Given the description of an element on the screen output the (x, y) to click on. 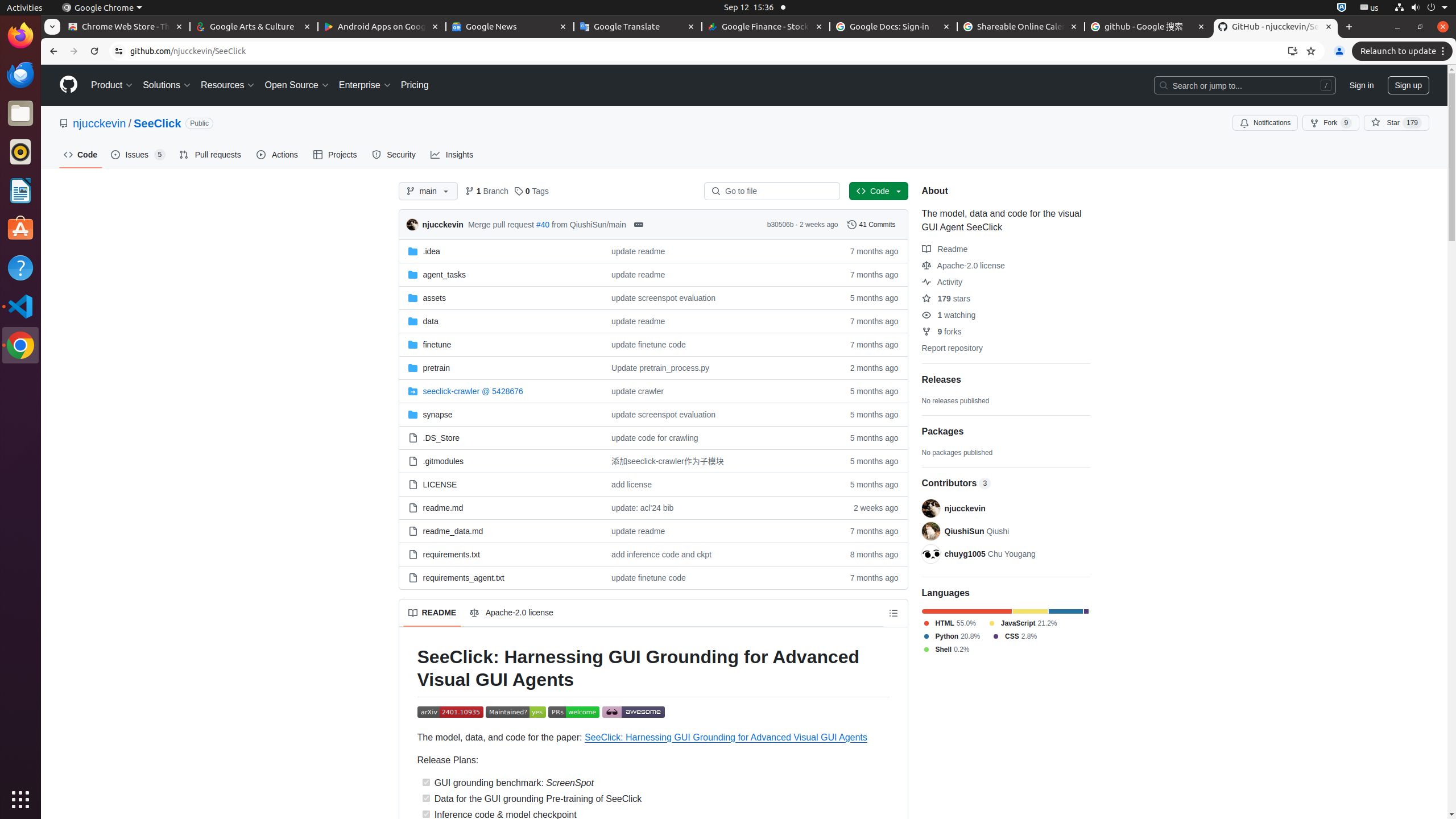
data, (Directory) Element type: table-cell (500, 320)
Rhythmbox Element type: push-button (20, 151)
8 months ago Element type: table-cell (868, 553)
Relaunch to update Element type: push-button (1403, 50)
Security Element type: link (394, 154)
